Given the description of an element on the screen output the (x, y) to click on. 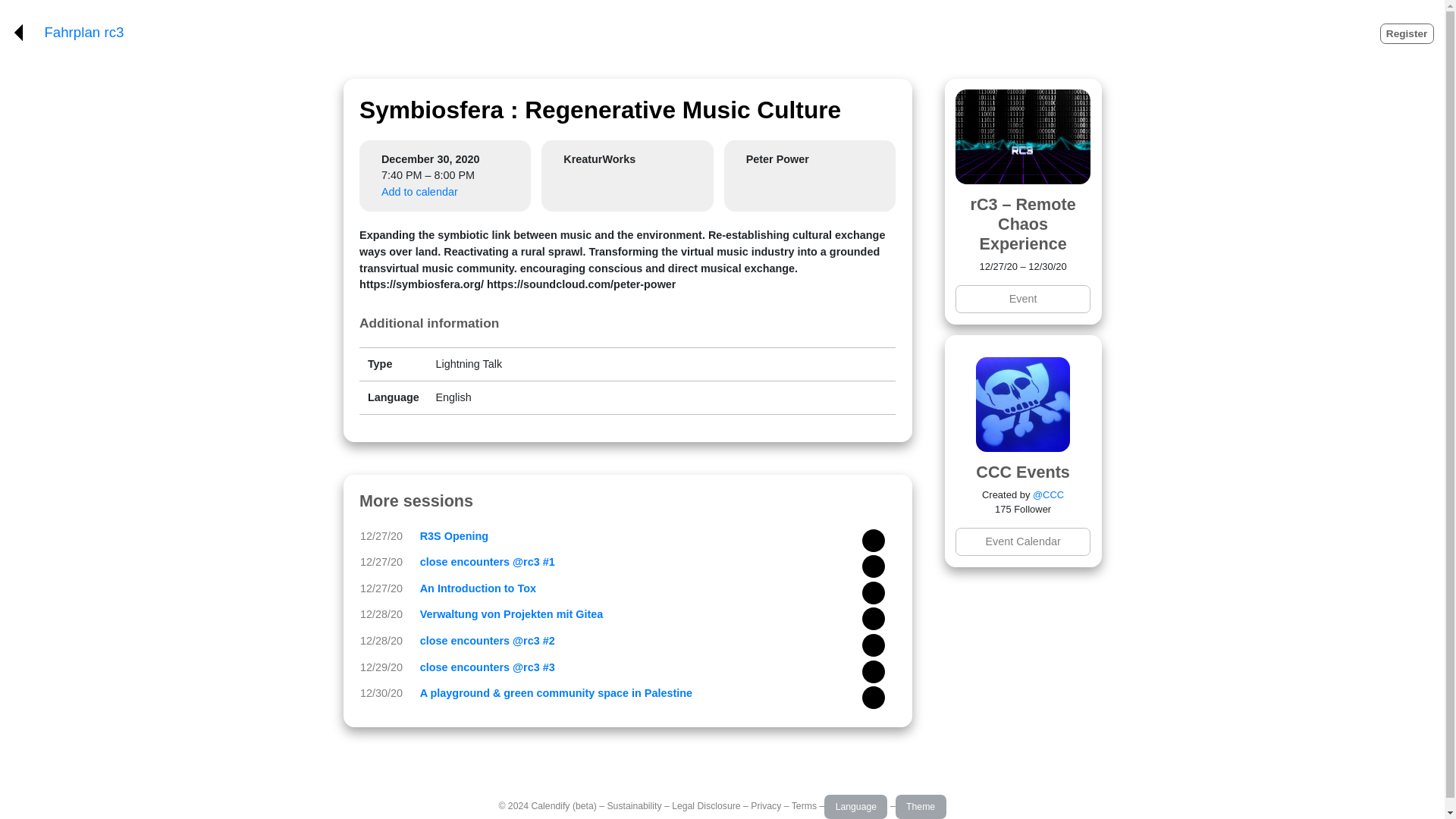
Event Calendar (1022, 541)
Add to calendar (419, 191)
Fahrplan rc3 (83, 32)
An Introduction to Tox (477, 588)
Sustainability (634, 805)
Event (1022, 298)
Register (1407, 33)
Privacy (765, 805)
Verwaltung von Projekten mit Gitea (512, 613)
R3S Opening (453, 535)
Legal Disclosure (705, 805)
